Given the description of an element on the screen output the (x, y) to click on. 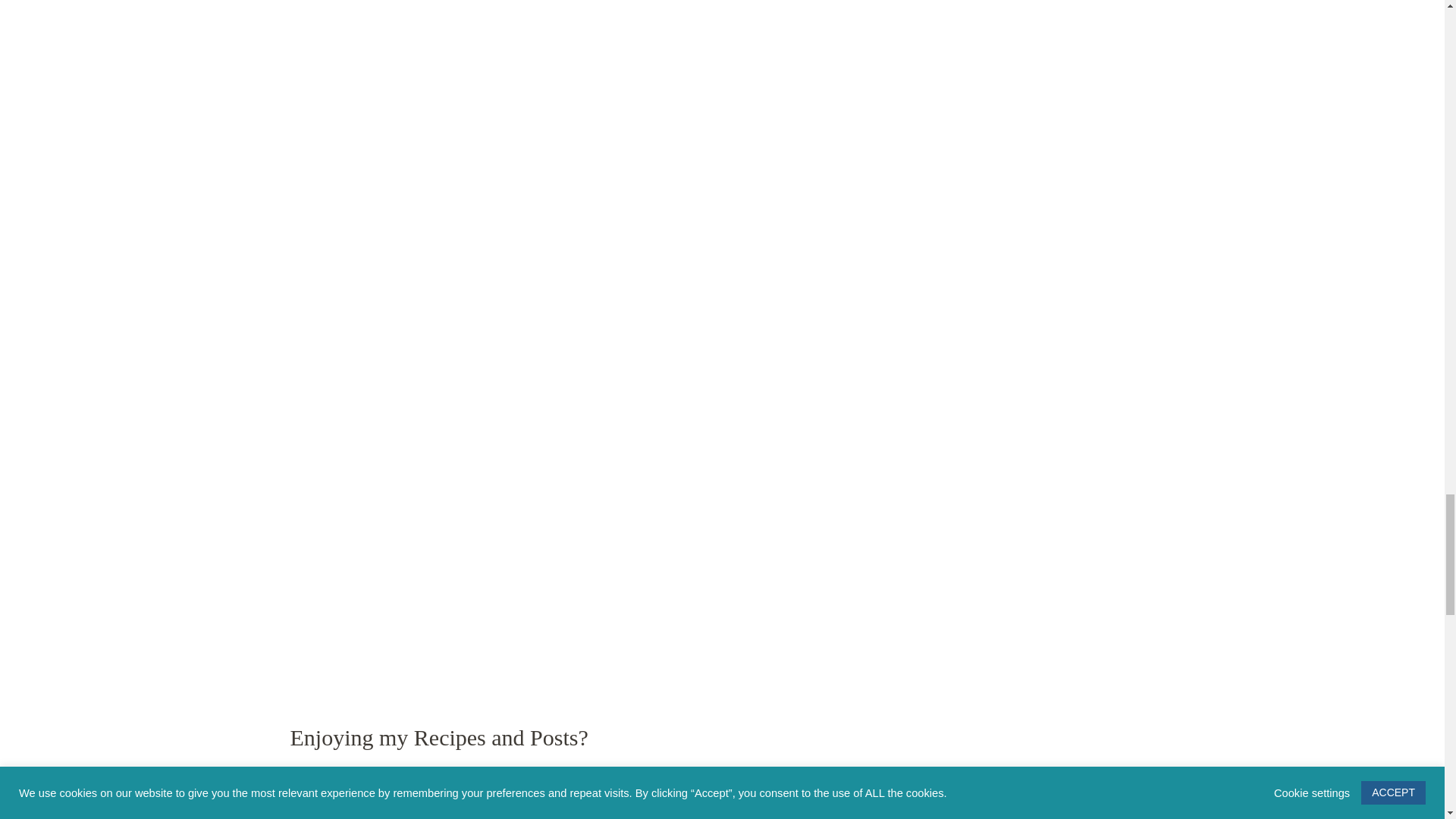
Support me on ko-fi.com (370, 804)
